Given the description of an element on the screen output the (x, y) to click on. 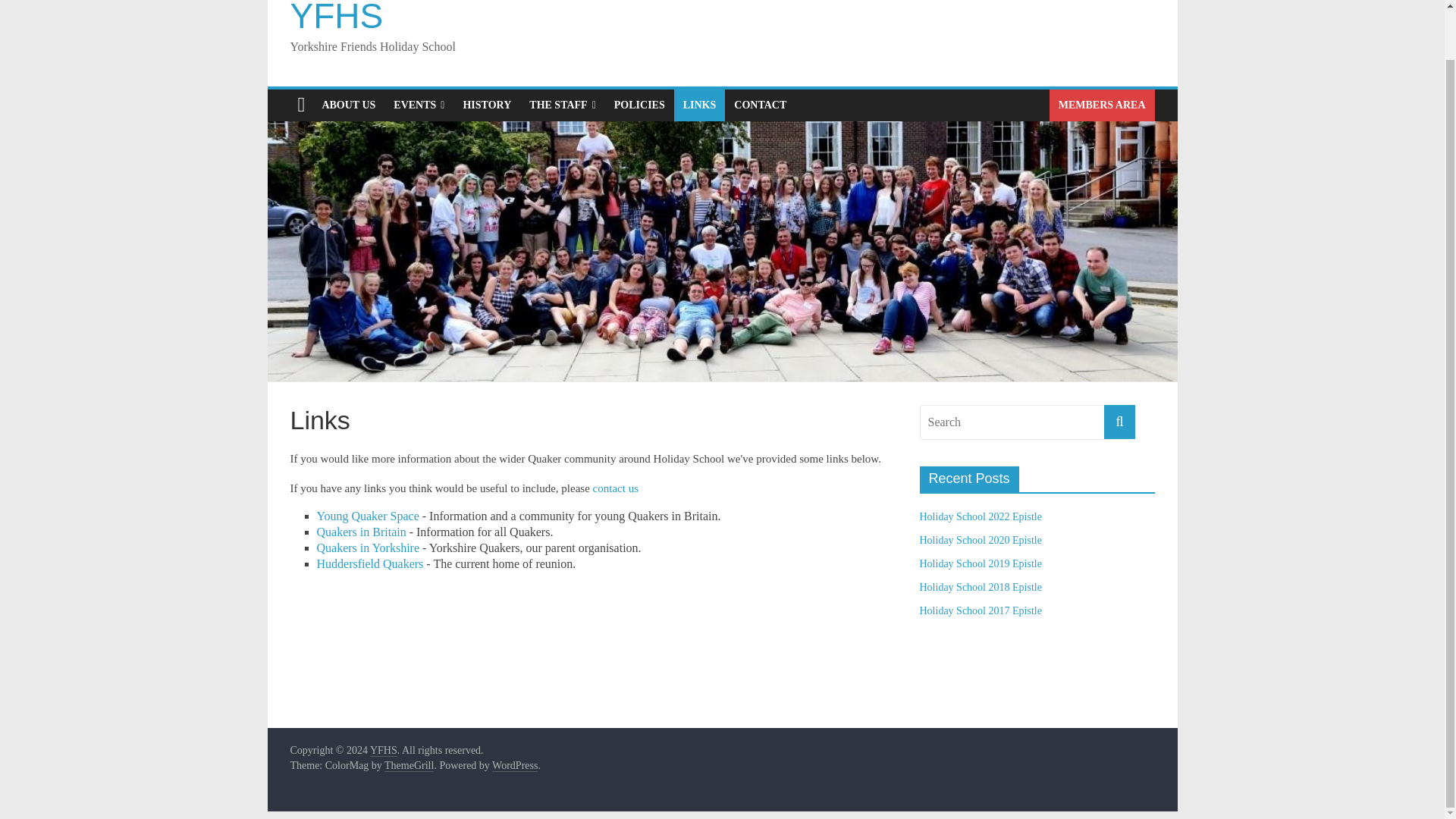
THE STAFF (562, 105)
Quakers in Yorkshire (368, 547)
ThemeGrill (408, 766)
MEMBERS AREA (1101, 105)
CONTACT (759, 105)
HISTORY (485, 105)
YFHS (335, 18)
WordPress (514, 766)
YFHS (383, 750)
Quakers in Britain (361, 531)
YFHS (335, 18)
contact us (615, 488)
ThemeGrill (408, 766)
Huddersfield Quakers (370, 563)
